Given the description of an element on the screen output the (x, y) to click on. 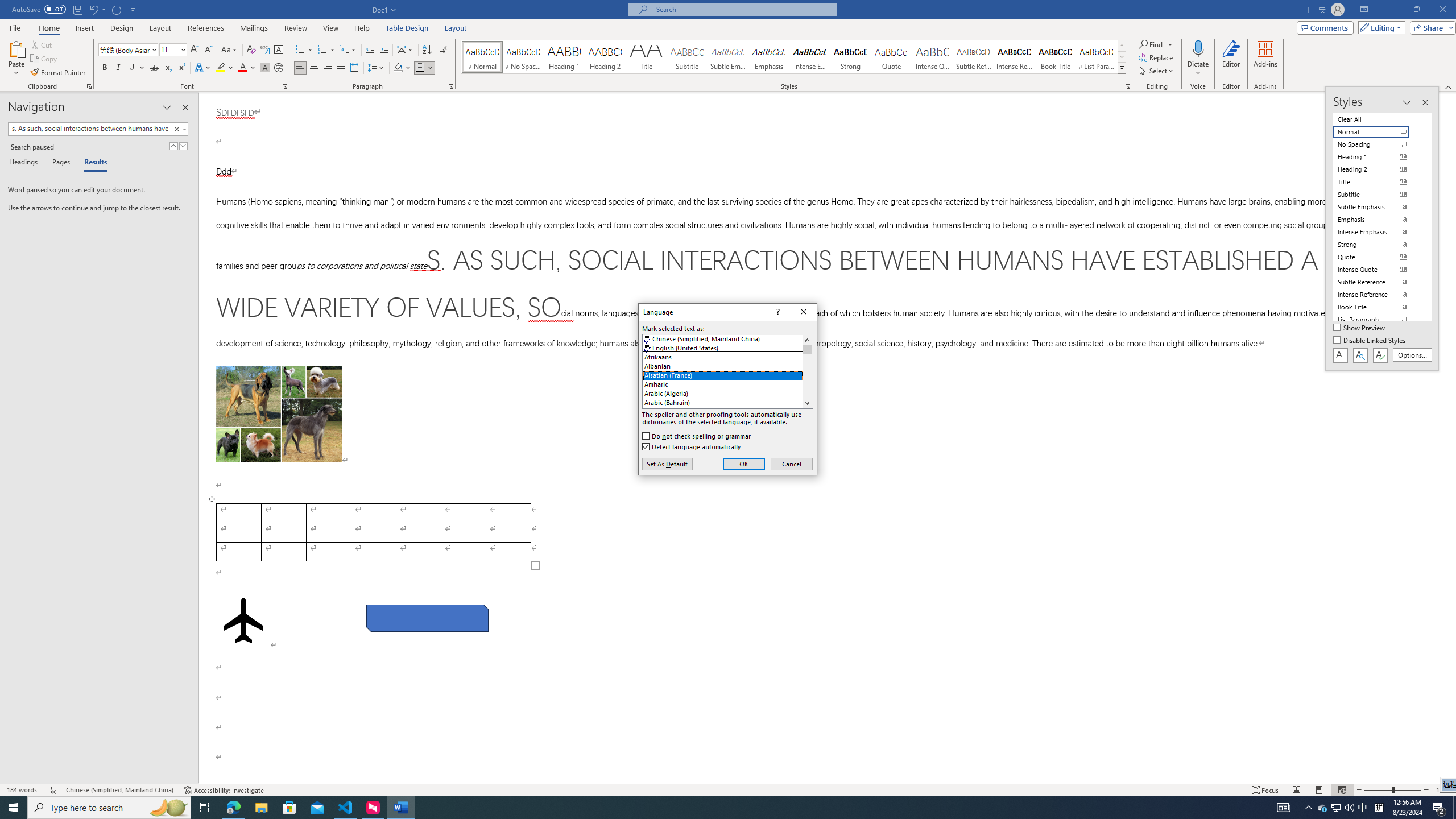
Editor (1231, 58)
Align Left (300, 67)
Sort... (426, 49)
Find (1155, 44)
Styles (1121, 67)
Set As Default (667, 463)
Styles... (1127, 85)
Font (124, 49)
Shading RGB(0, 0, 0) (397, 67)
Web Layout (1342, 790)
Editing (1379, 27)
